Given the description of an element on the screen output the (x, y) to click on. 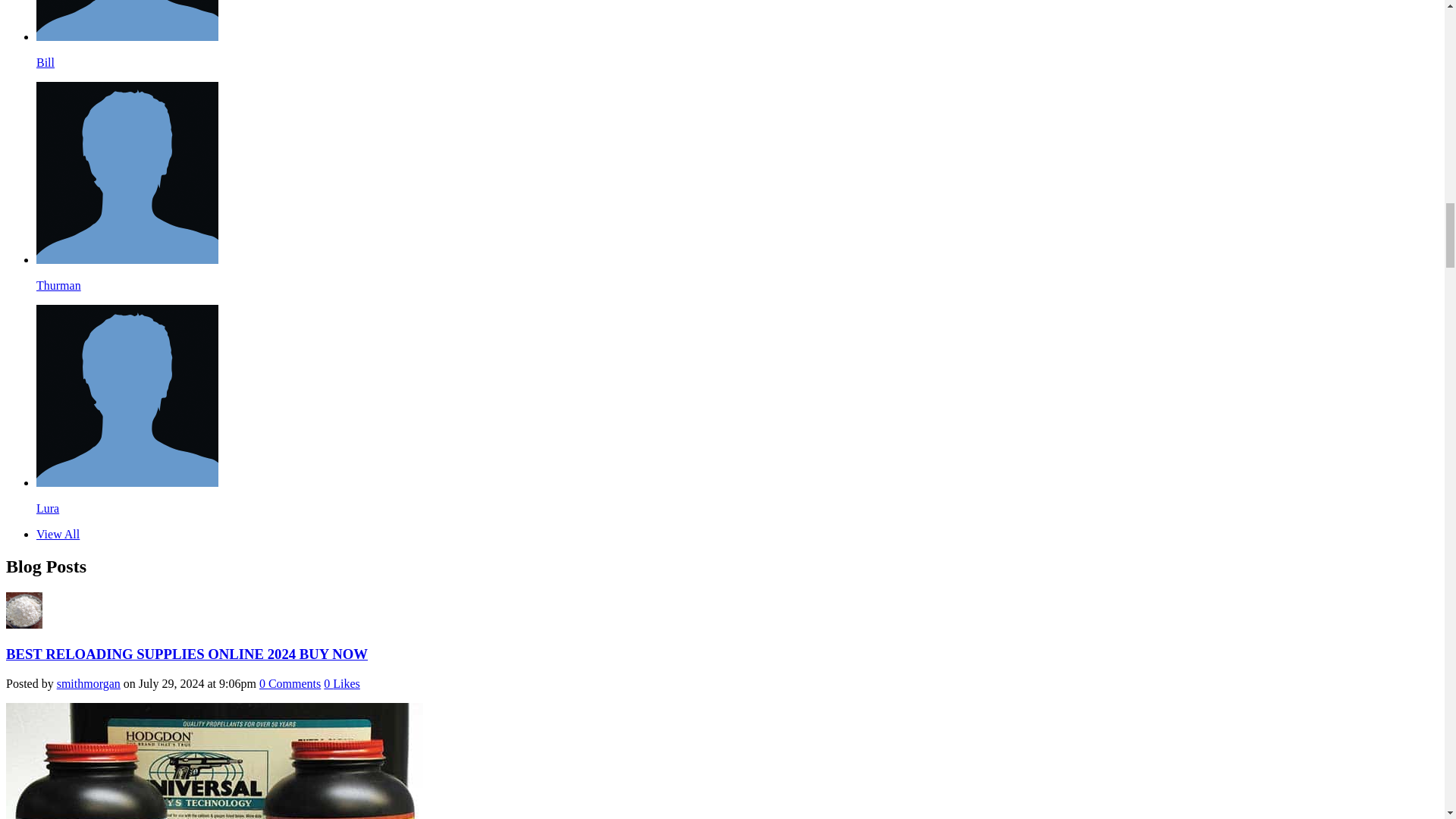
Thurman (58, 285)
Lura (47, 508)
View All (58, 533)
Bill (45, 62)
smithmorgan (23, 624)
BEST RELOADING SUPPLIES ONLINE 2024 BUY NOW (186, 653)
Bill (127, 36)
smithmorgan (88, 683)
0 Comments (289, 683)
Thurman (127, 259)
Lura (127, 481)
0 Likes (341, 683)
